Given the description of an element on the screen output the (x, y) to click on. 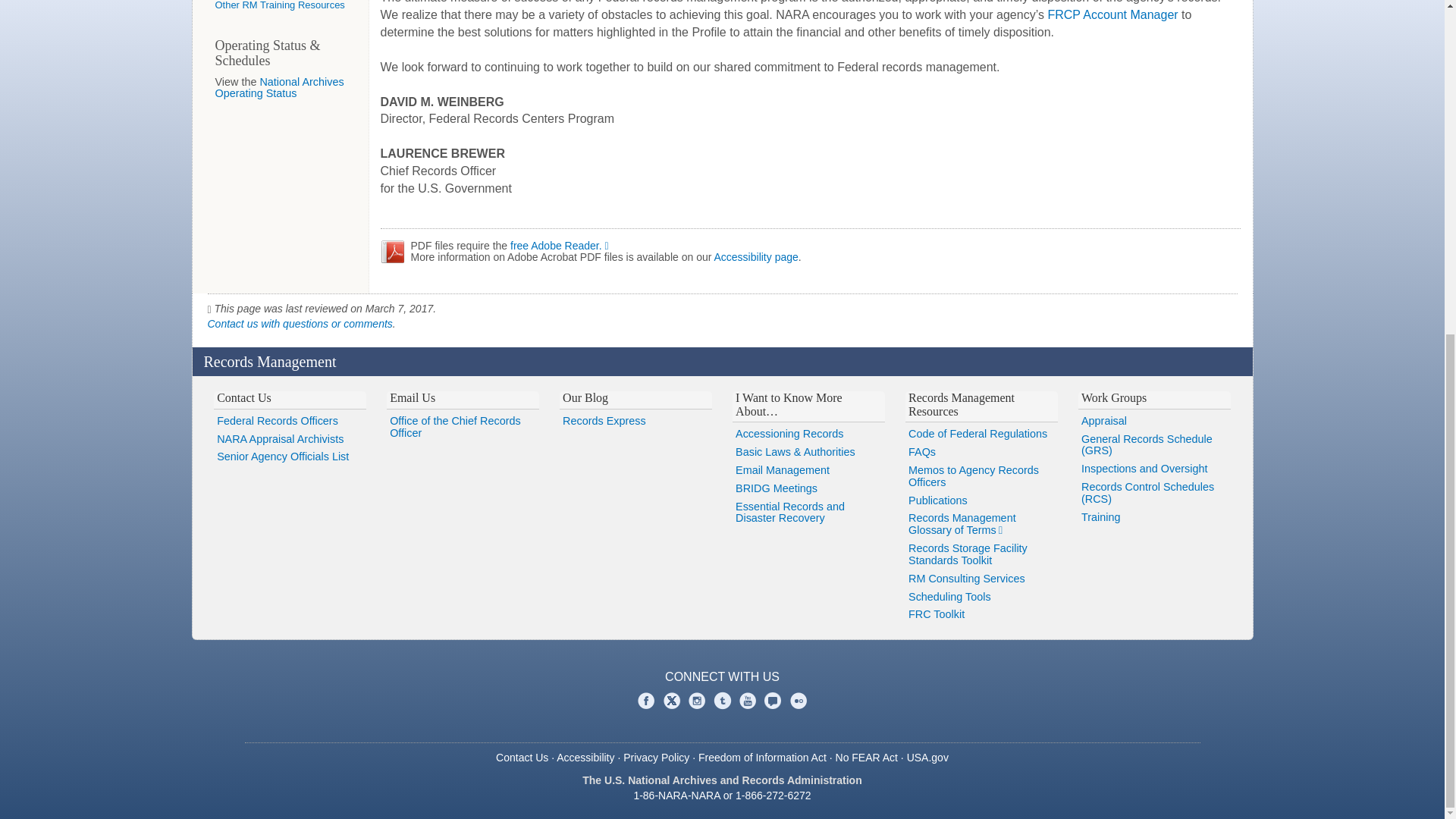
Contact us with questions or comments (300, 323)
free Adobe Reader. (563, 245)
Email Us (412, 397)
National Archives Operating Status (279, 87)
Senior Agency Officials List (290, 456)
Other RM Training Resources (280, 5)
NARA Appraisal Archivists (290, 439)
Accessibility page (755, 256)
FRCP Account Manager (1111, 14)
Federal Records Officers (290, 421)
Office of the Chief Records Officer (462, 427)
Records Express (635, 421)
Contact Us (243, 397)
Our Blog (585, 397)
